Given the description of an element on the screen output the (x, y) to click on. 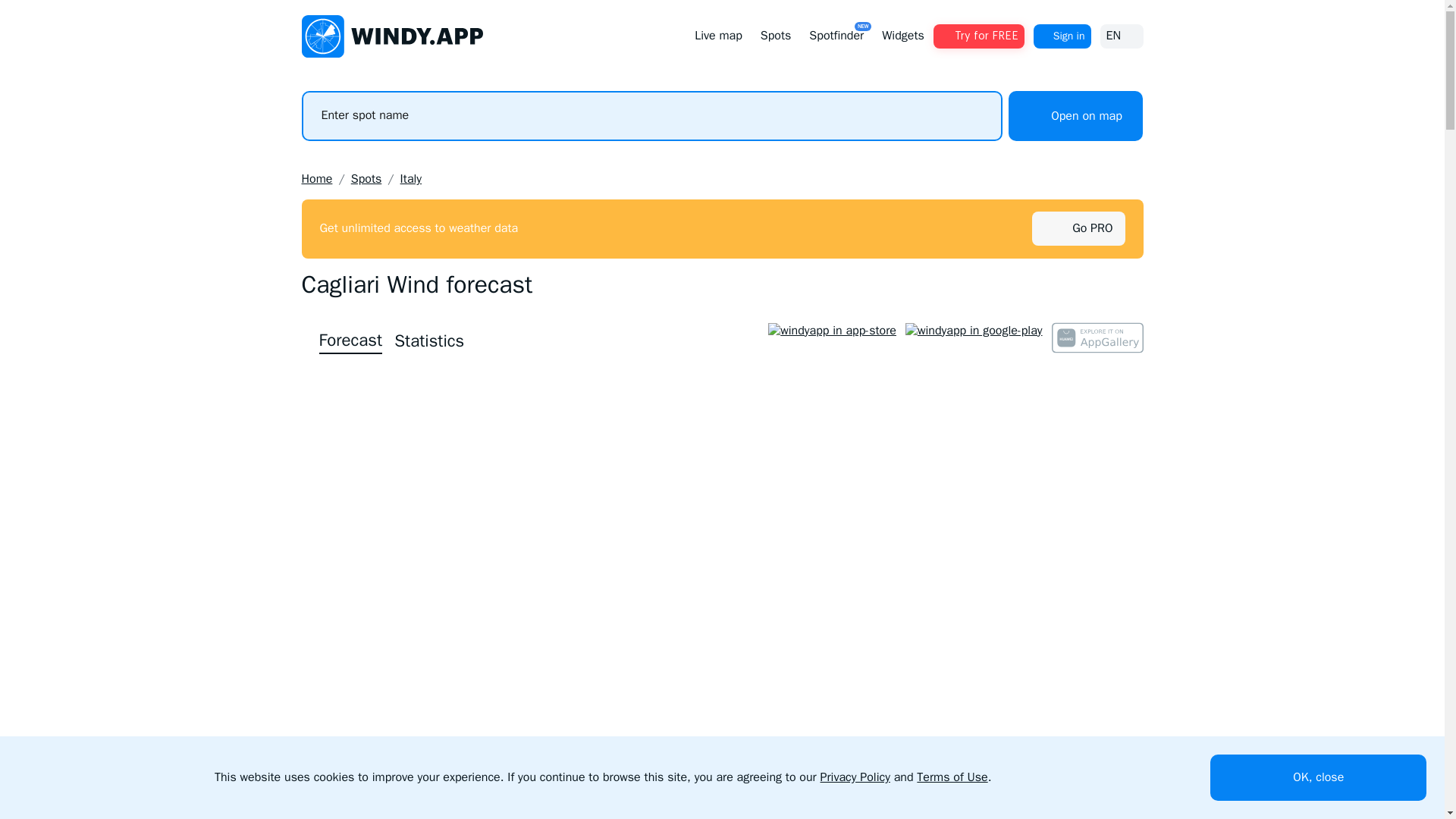
Live map (718, 35)
Spots (835, 35)
Try for FREE (365, 178)
Go PRO (979, 36)
Statistics (1091, 228)
Home (429, 341)
EN (317, 178)
Sign in (1120, 36)
Italy (1061, 36)
